Given the description of an element on the screen output the (x, y) to click on. 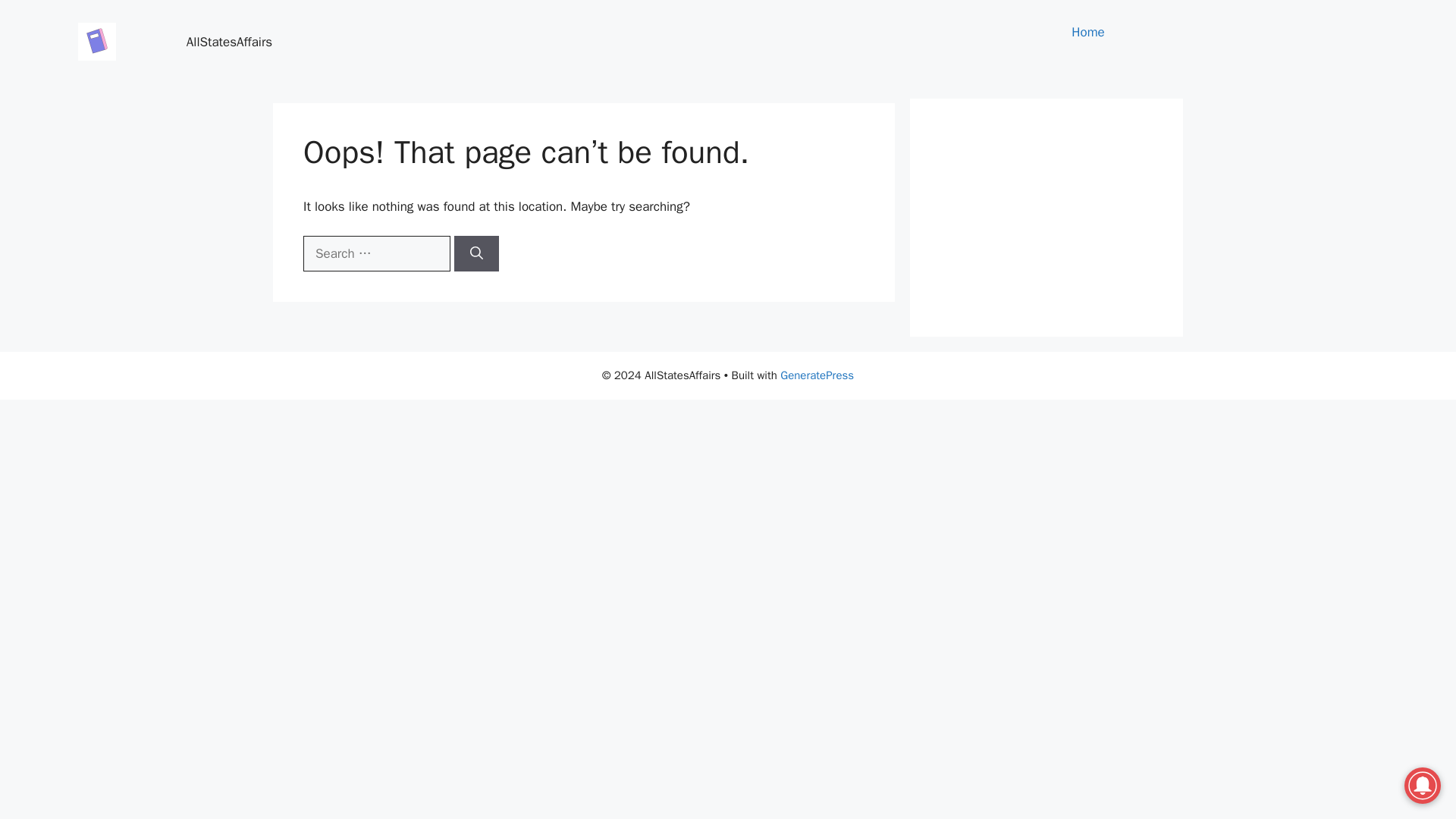
Home (1088, 32)
Advertisement (1046, 217)
AllStatesAffairs (229, 41)
GeneratePress (816, 375)
cropped-AllStatesAffiars-Fav-icon.png (97, 41)
Search for: (375, 253)
